Given the description of an element on the screen output the (x, y) to click on. 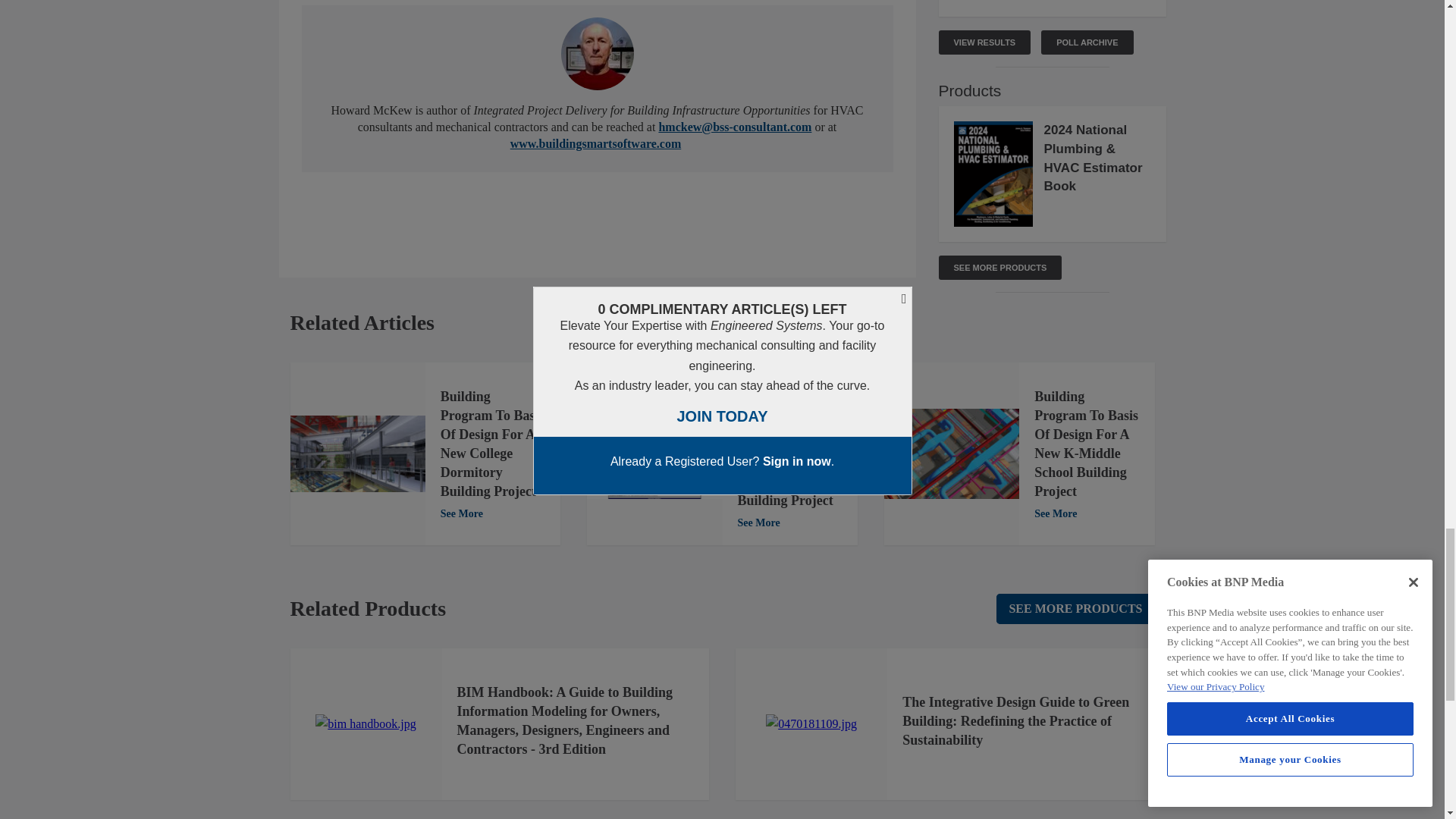
designconstructionimage422 (951, 453)
0470181109.jpg (811, 723)
b2b FT (654, 453)
bim handbook.jpg (364, 723)
college615 (357, 454)
